Given the description of an element on the screen output the (x, y) to click on. 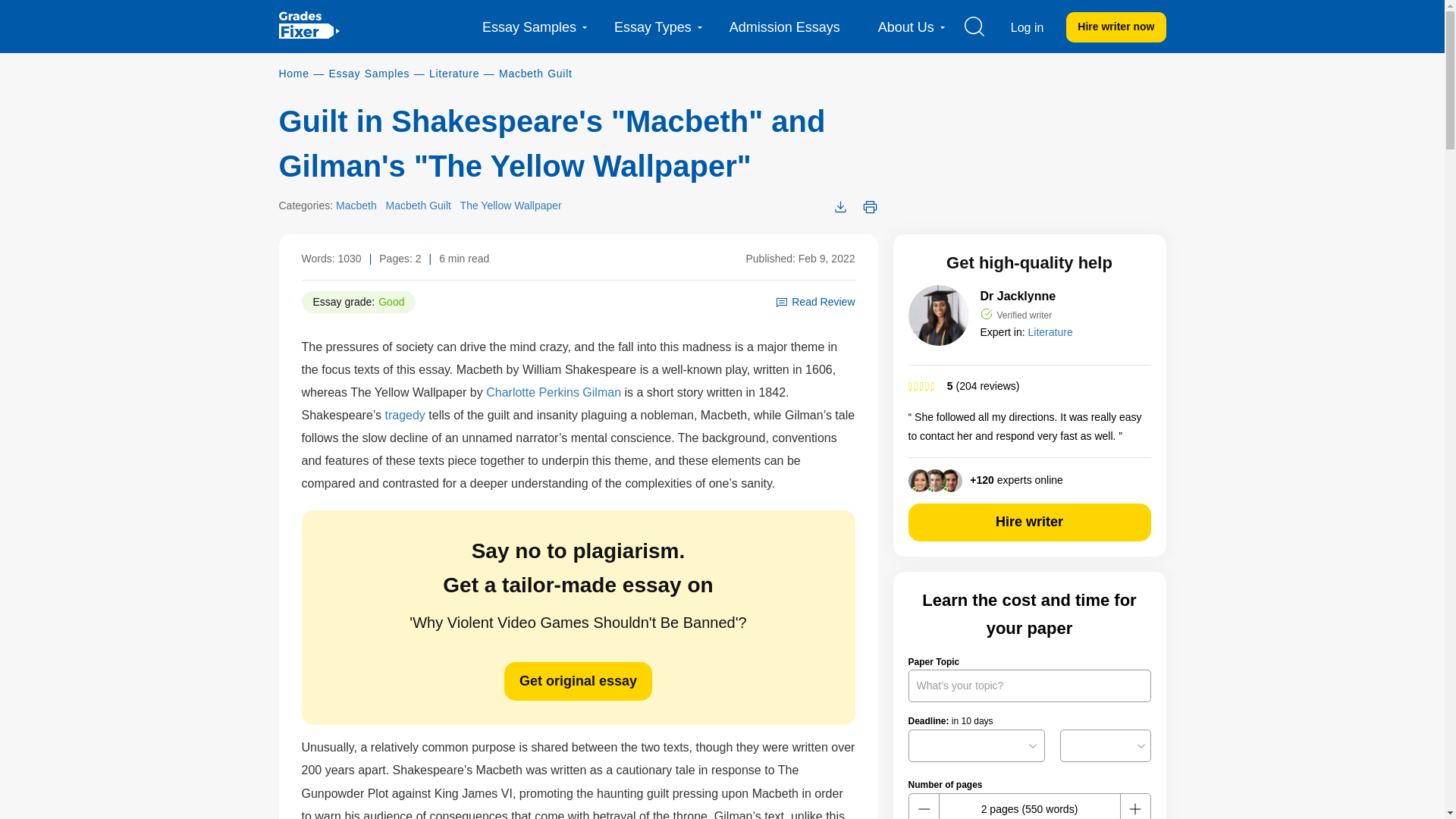
5 (1029, 385)
search (973, 26)
